Given the description of an element on the screen output the (x, y) to click on. 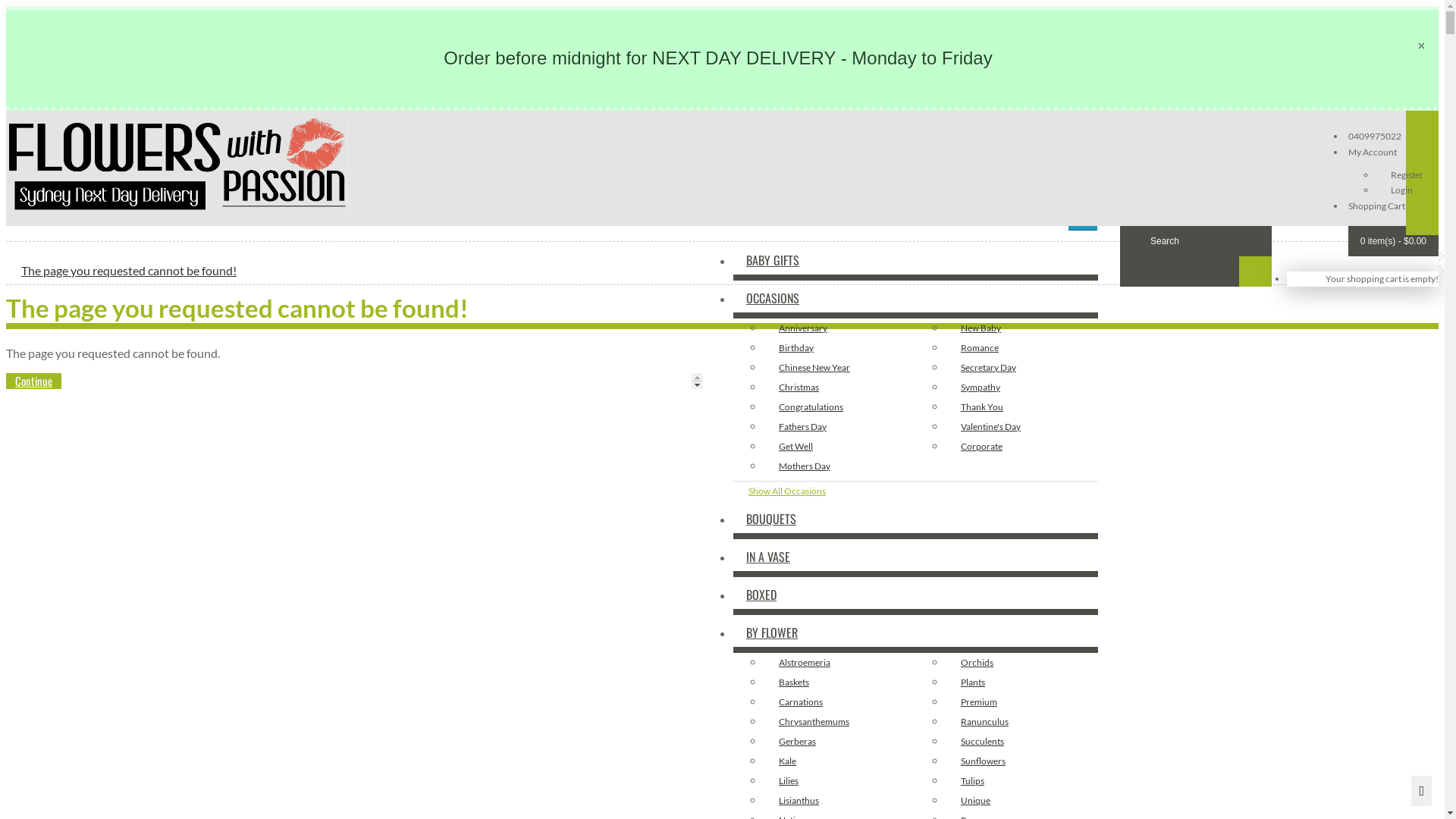
Carnations Element type: text (839, 701)
Plants Element type: text (1021, 681)
Alstroemeria Element type: text (839, 661)
Shopping Cart Element type: text (1375, 205)
BOUQUETS Element type: text (915, 519)
Chrysanthemums Element type: text (839, 721)
Gerberas Element type: text (839, 740)
Corporate Element type: text (1021, 446)
IN A VASE Element type: text (915, 557)
Lisianthus Element type: text (839, 799)
Lilies Element type: text (839, 780)
Sunflowers Element type: text (1021, 760)
BY FLOWER Element type: text (915, 633)
Christmas Element type: text (839, 387)
0409975022 Element type: text (1374, 135)
Tulips Element type: text (1021, 780)
Succulents Element type: text (1021, 740)
Baskets Element type: text (839, 681)
OCCASIONS Element type: text (915, 299)
BOXED Element type: text (915, 595)
Anniversary Element type: text (839, 328)
Congratulations Element type: text (839, 407)
Mothers Day Element type: text (839, 466)
Login Element type: text (1401, 188)
Fathers Day Element type: text (839, 426)
Ranunculus Element type: text (1021, 721)
Flowers With Passion (ABN 39694061234)  Element type: hover (176, 166)
Valentine's Day Element type: text (1021, 426)
Chinese New Year Element type: text (839, 367)
Get Well Element type: text (839, 446)
BABY GIFTS Element type: text (915, 261)
Thank You Element type: text (1021, 407)
Premium Element type: text (1021, 701)
My Account Element type: text (1370, 150)
The page you requested cannot be found! Element type: text (128, 269)
Romance Element type: text (1021, 347)
Birthday Element type: text (839, 347)
Unique Element type: text (1021, 799)
Continue Element type: text (33, 380)
New Baby Element type: text (1021, 328)
Orchids Element type: text (1021, 661)
Register Element type: text (1406, 173)
Show All Occasions Element type: text (915, 490)
Kale Element type: text (839, 760)
Secretary Day Element type: text (1021, 367)
Sympathy Element type: text (1021, 387)
0 item(s) - $0.00 Element type: text (1393, 240)
